Given the description of an element on the screen output the (x, y) to click on. 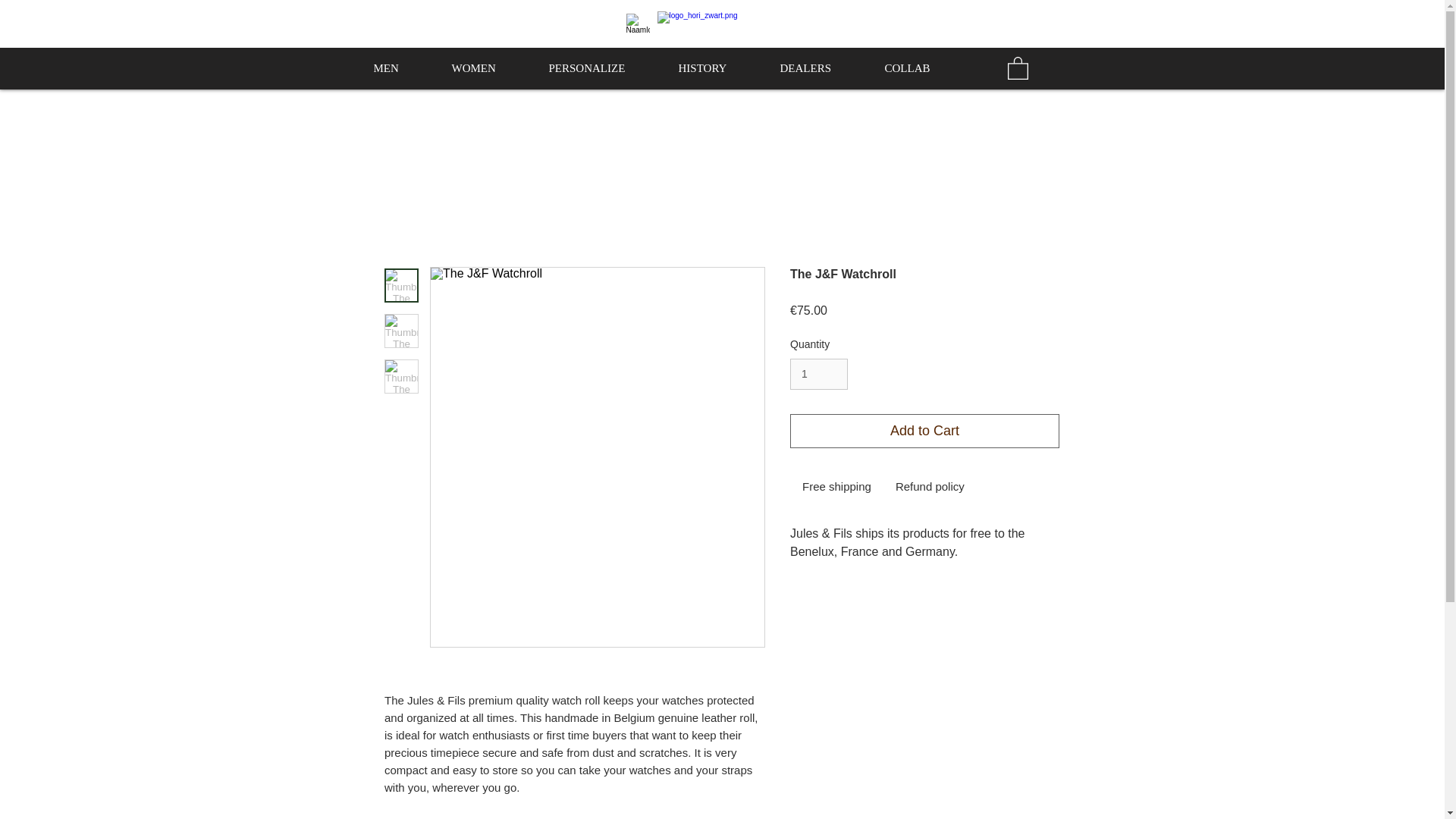
Use right and left arrows to navigate between tabs (837, 486)
COLLAB (922, 67)
logo2finaal.jpg (734, 24)
Use right and left arrows to navigate between tabs (930, 486)
PERSONALIZE (601, 67)
WOMEN (488, 67)
DEALERS (820, 67)
Add to Cart (924, 430)
MEN (401, 67)
HISTORY (717, 67)
1 (818, 373)
